Given the description of an element on the screen output the (x, y) to click on. 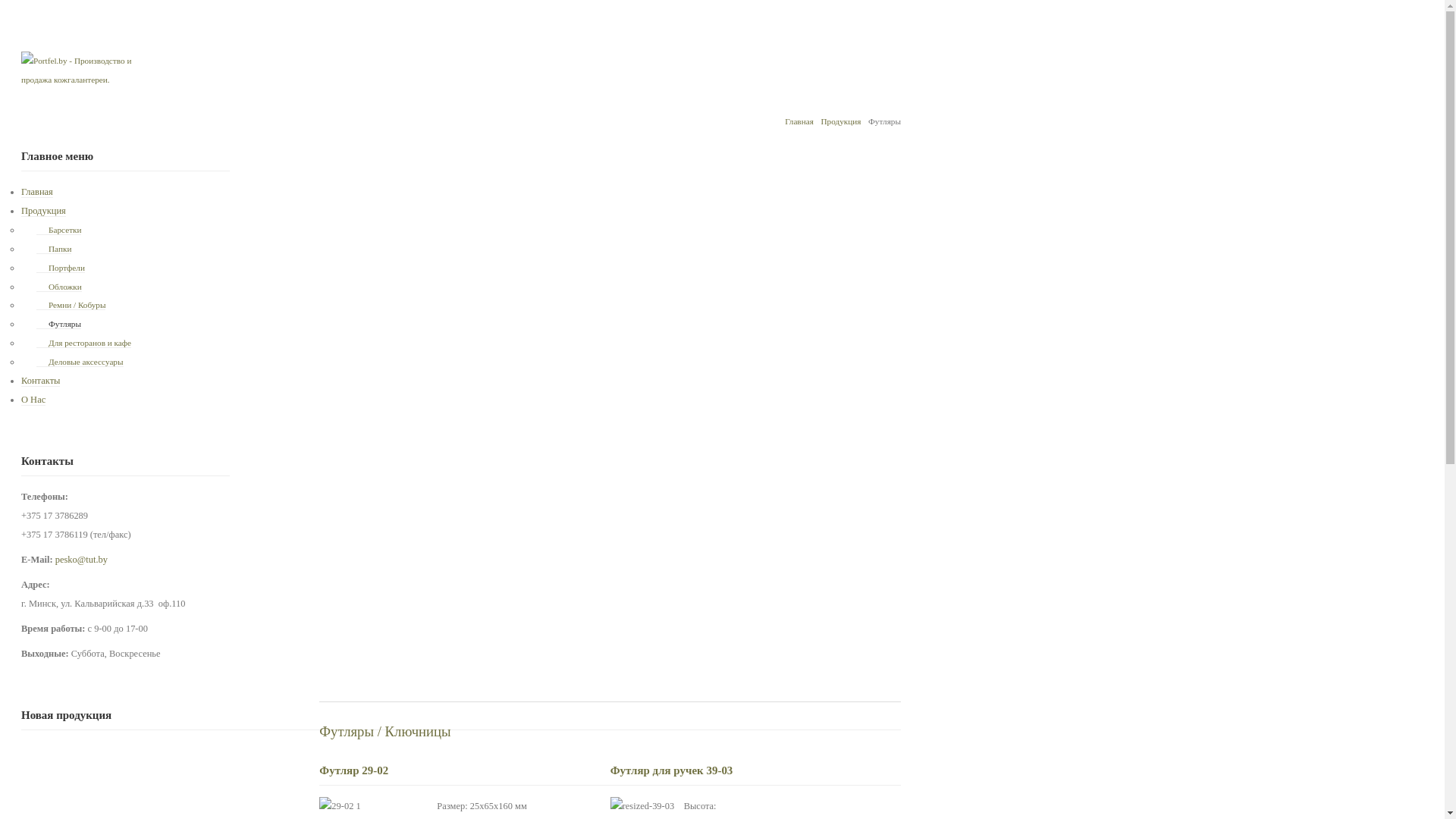
pesko@tut.by Element type: text (81, 559)
